Given the description of an element on the screen output the (x, y) to click on. 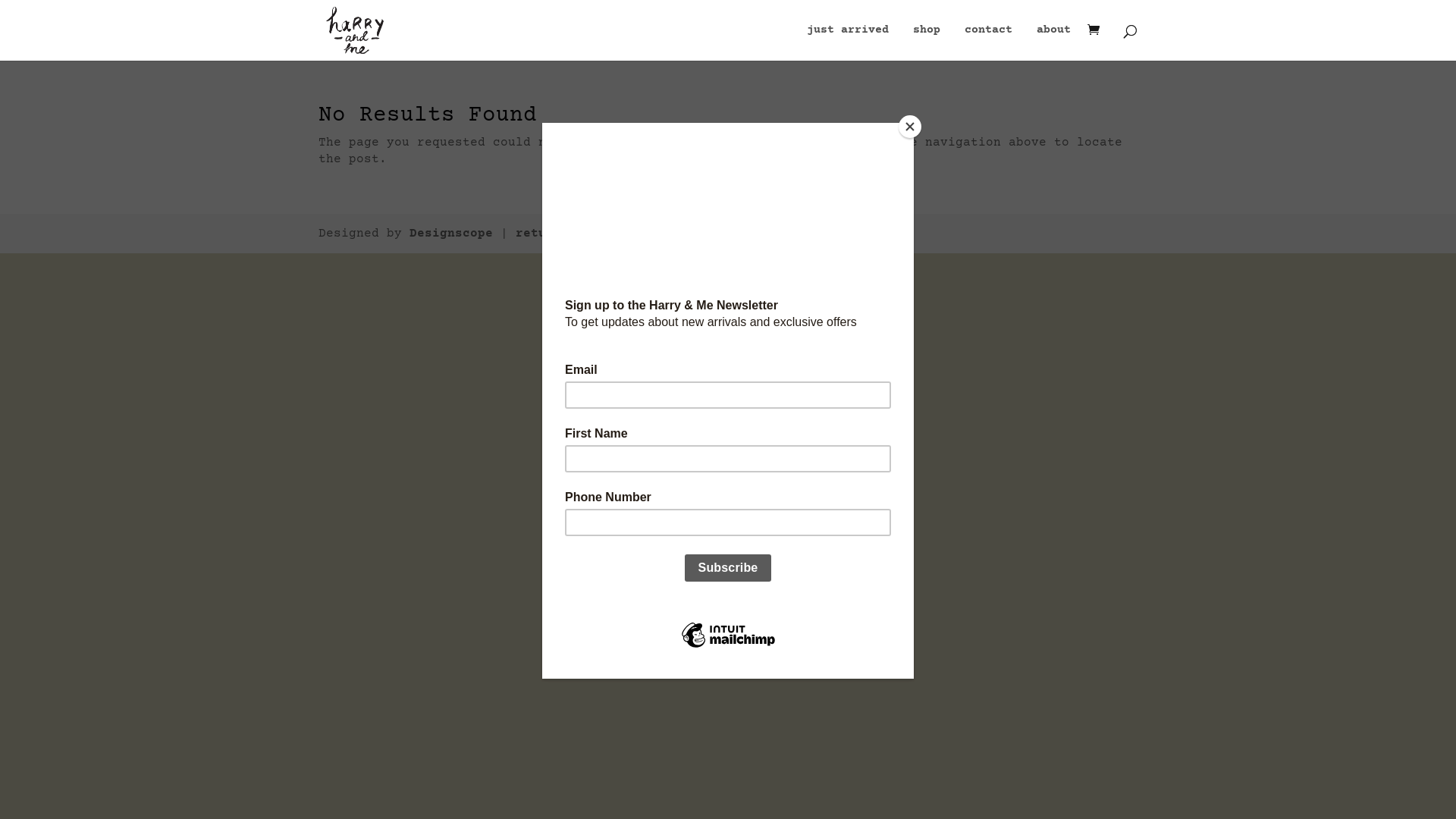
returns & exchanges Element type: text (587, 233)
Designscope Element type: text (450, 233)
contact Element type: text (988, 42)
about Element type: text (1053, 42)
just arrived Element type: text (847, 42)
shop Element type: text (926, 42)
